Given the description of an element on the screen output the (x, y) to click on. 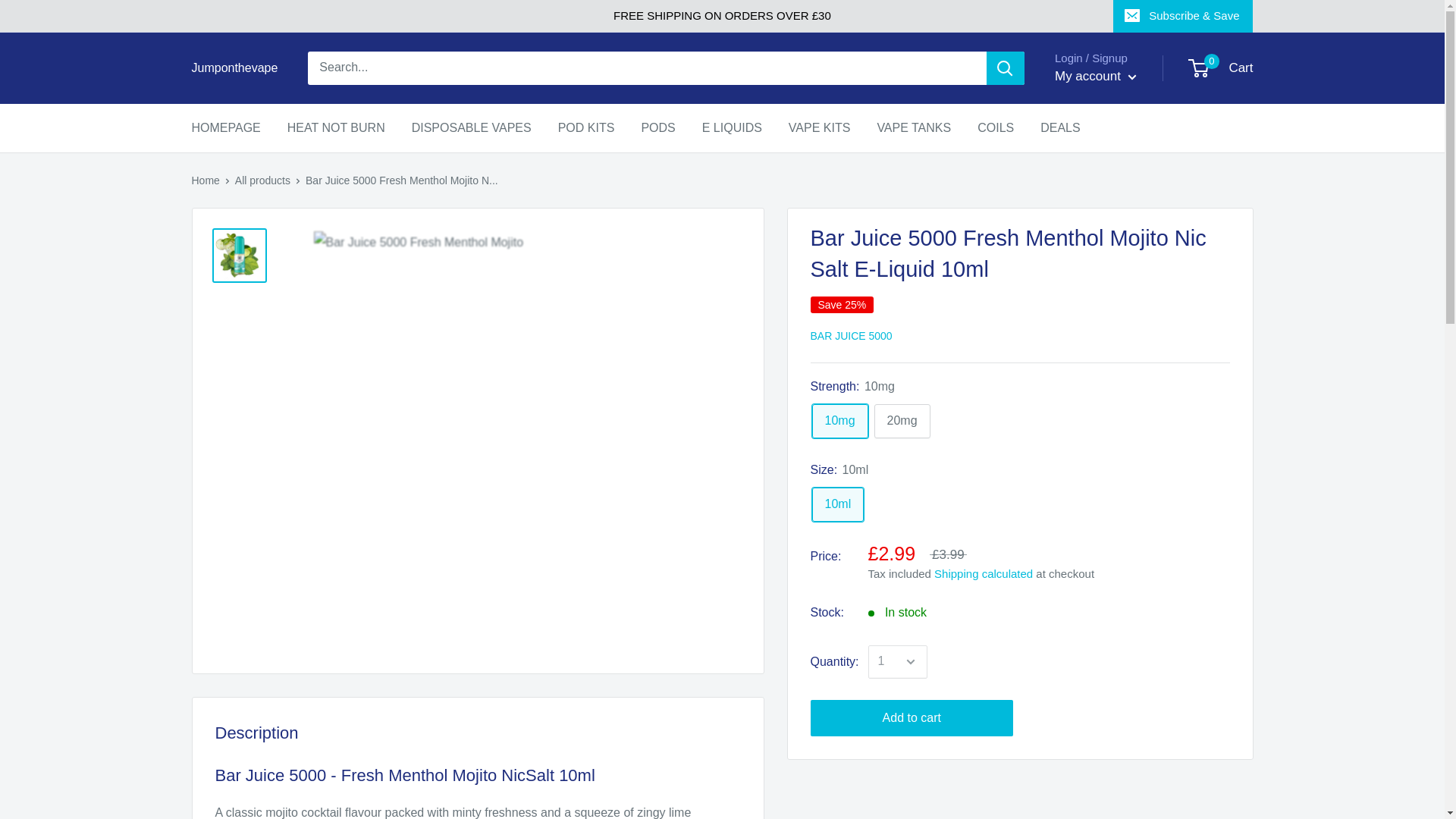
10ml (836, 504)
HOMEPAGE (225, 128)
20mg (902, 421)
POD KITS (585, 128)
E LIQUIDS (731, 128)
HEAT NOT BURN (335, 128)
VAPE KITS (819, 128)
DISPOSABLE VAPES (471, 128)
PODS (657, 128)
Jumponthevape (234, 67)
My account (1095, 76)
10mg (1221, 68)
